Given the description of an element on the screen output the (x, y) to click on. 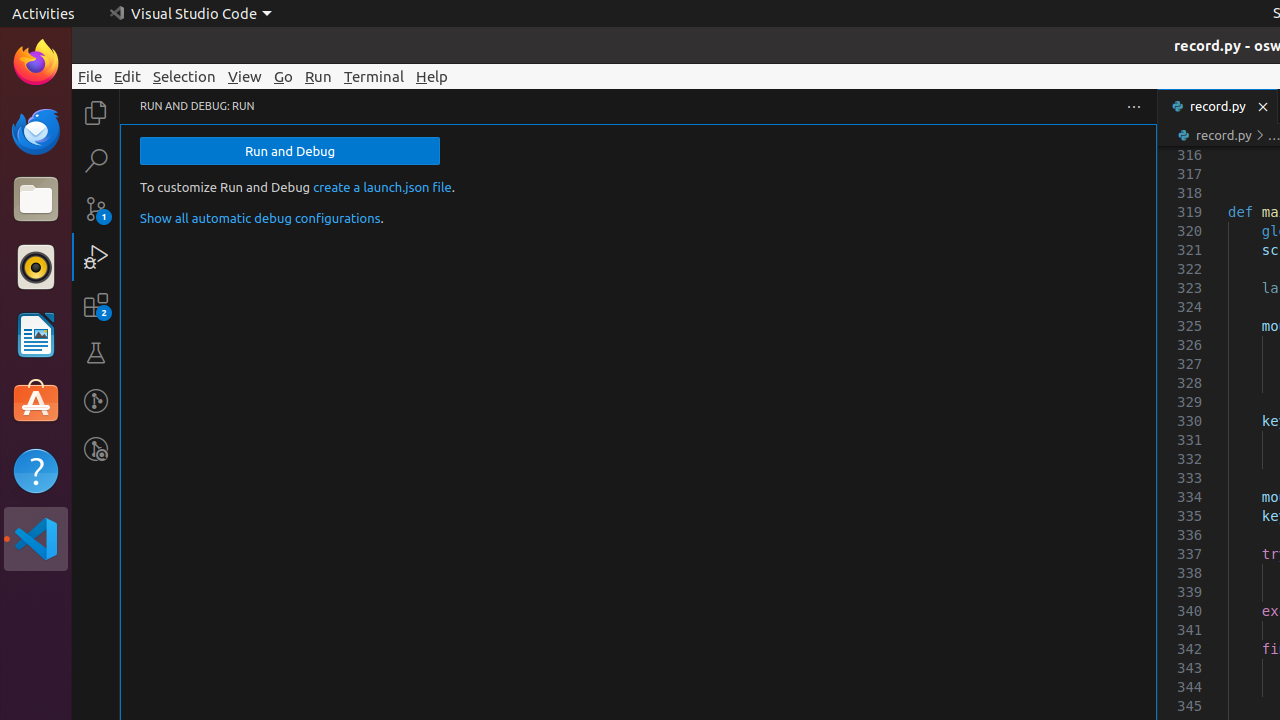
View Element type: push-button (245, 76)
Go Element type: push-button (283, 76)
Run and Debug Element type: push-button (290, 151)
Explorer (Ctrl+Shift+E) Element type: page-tab (96, 113)
Extensions (Ctrl+Shift+X) - 2 require update Element type: page-tab (96, 305)
